Given the description of an element on the screen output the (x, y) to click on. 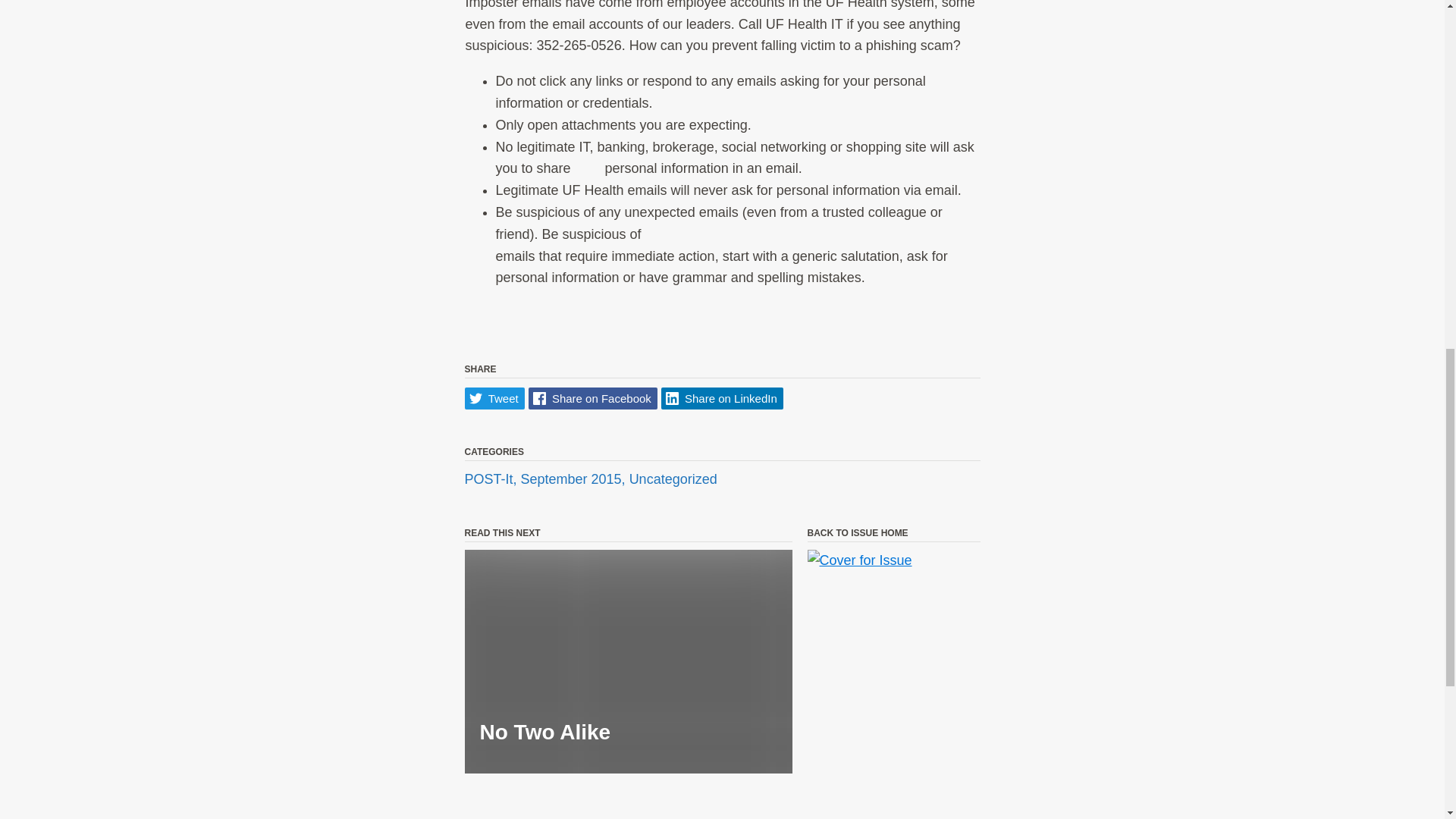
No Two Alike (628, 661)
Uncategorized (672, 478)
Tweet (494, 398)
POST-It, (491, 478)
Share on LinkedIn (722, 398)
Share on Facebook (593, 398)
September 2015, (574, 478)
